Given the description of an element on the screen output the (x, y) to click on. 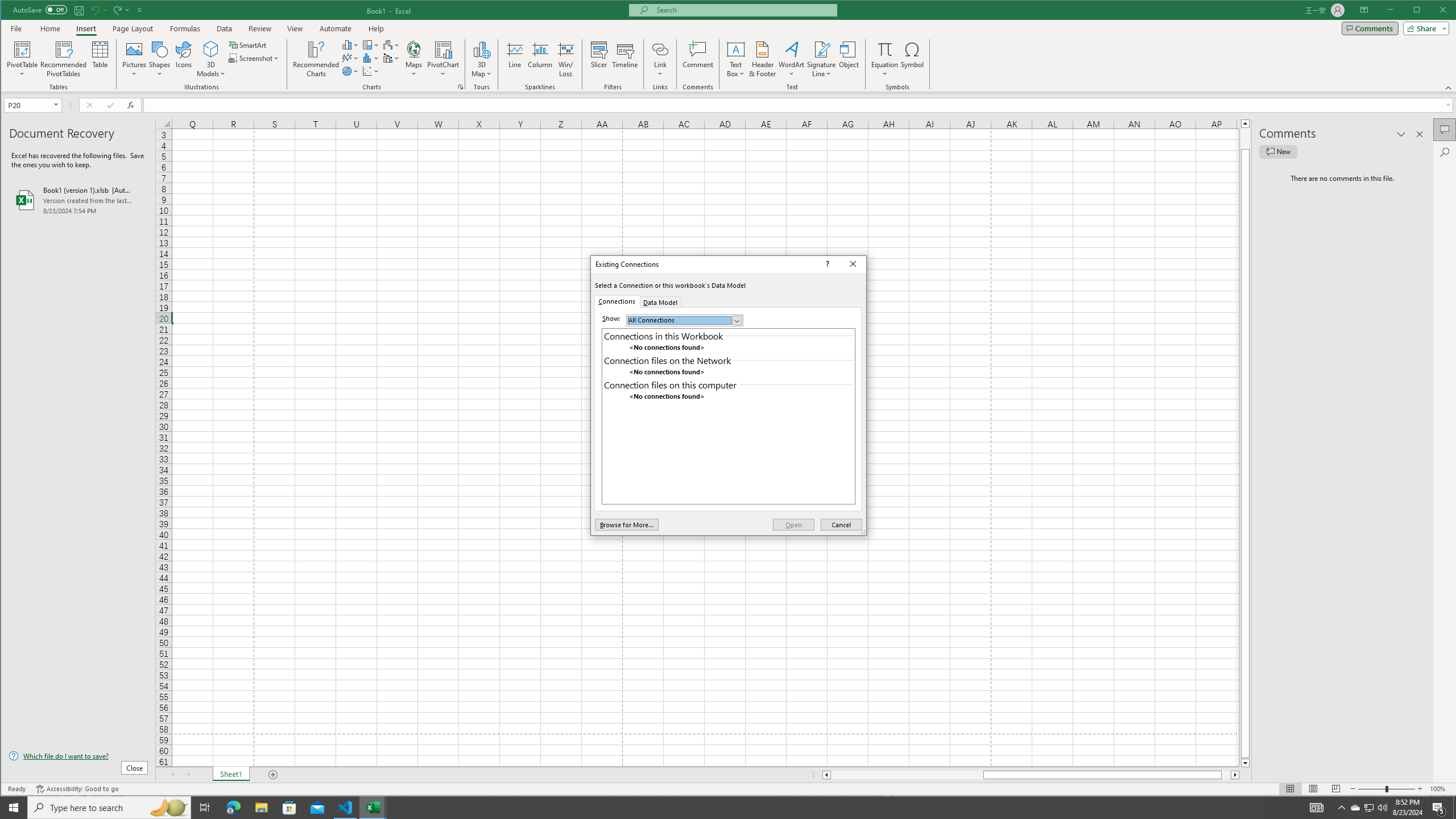
Column (540, 59)
Insert Statistic Chart (371, 57)
Connection files on the Network (728, 359)
Comment (697, 59)
Excel - 2 running windows (373, 807)
Recommended Charts (460, 86)
